Given the description of an element on the screen output the (x, y) to click on. 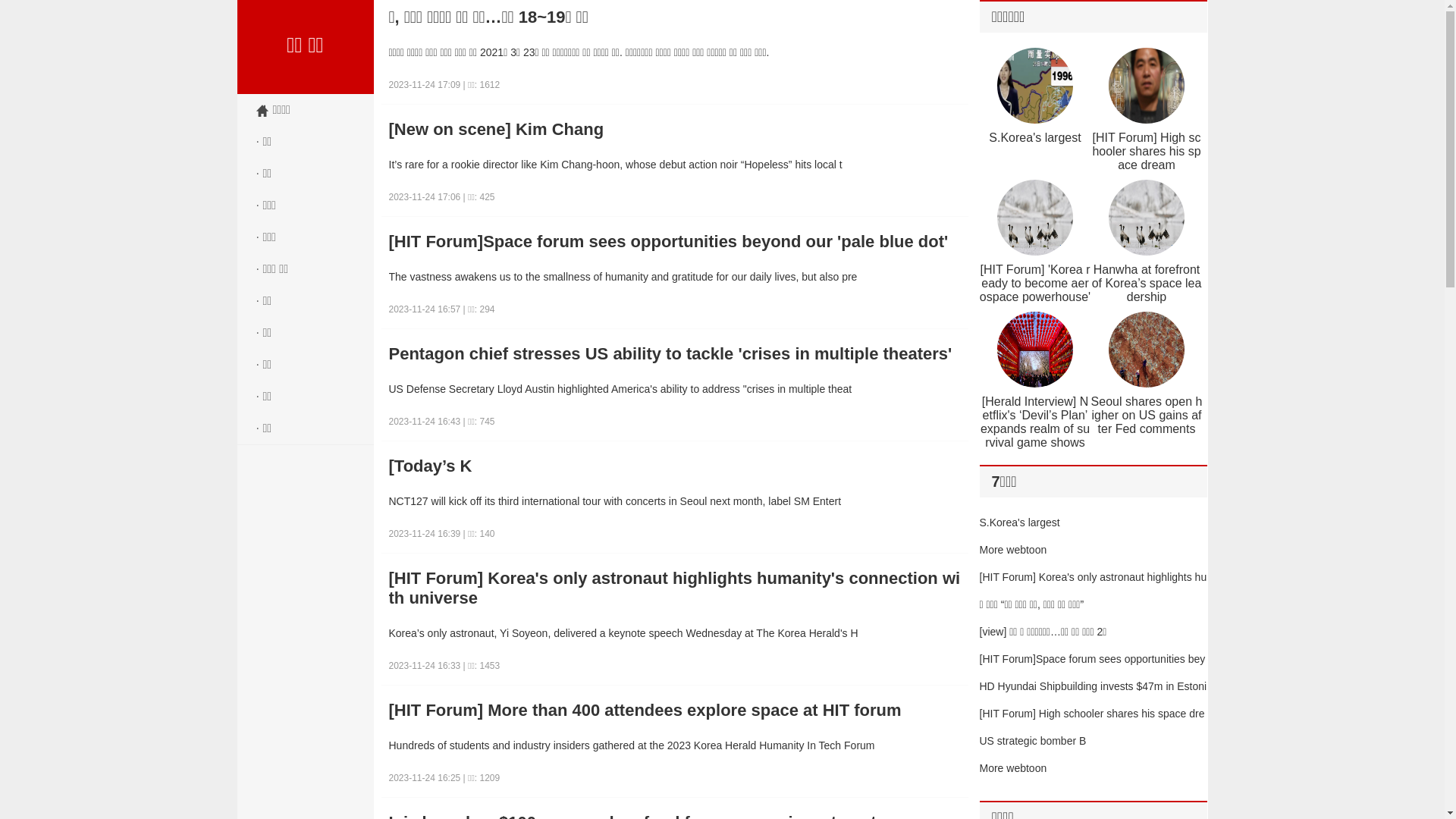
S.Korea's largest Element type: text (1019, 522)
More webtoon Element type: text (1013, 768)
[HIT Forum] 'Korea ready to become aerospace powerhouse' Element type: text (1034, 283)
US strategic bomber B Element type: text (1032, 740)
S.Korea's largest Element type: text (1034, 137)
More webtoon Element type: text (1013, 549)
[HIT Forum] High schooler shares his space dream Element type: text (1146, 151)
[HIT Forum] High schooler shares his space dream Element type: text (1091, 726)
[New on scene] Kim Chang Element type: text (674, 129)
Seoul shares open higher on US gains after Fed comments Element type: text (1146, 415)
